Given the description of an element on the screen output the (x, y) to click on. 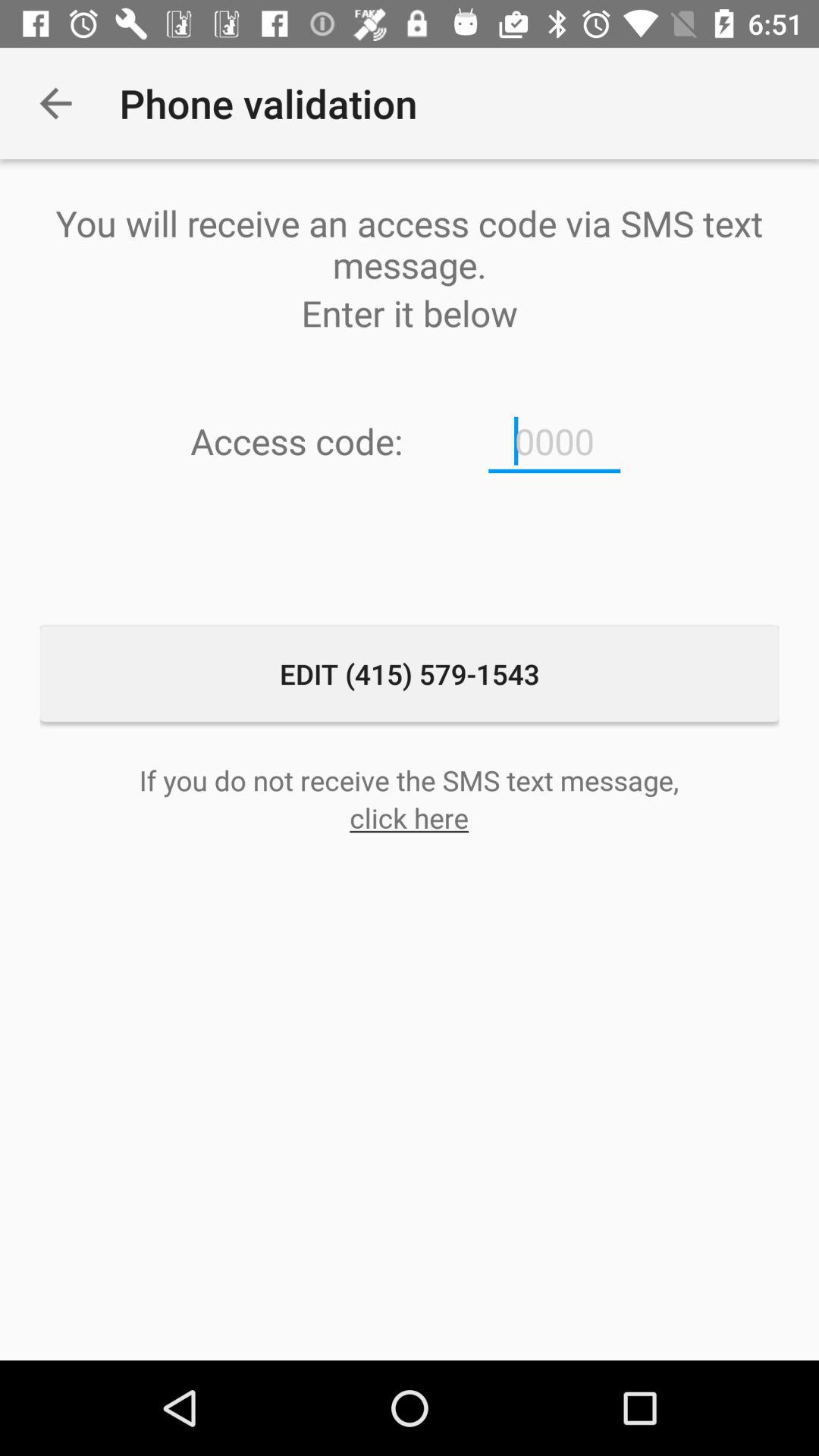
launch the edit 415 579 (409, 673)
